Given the description of an element on the screen output the (x, y) to click on. 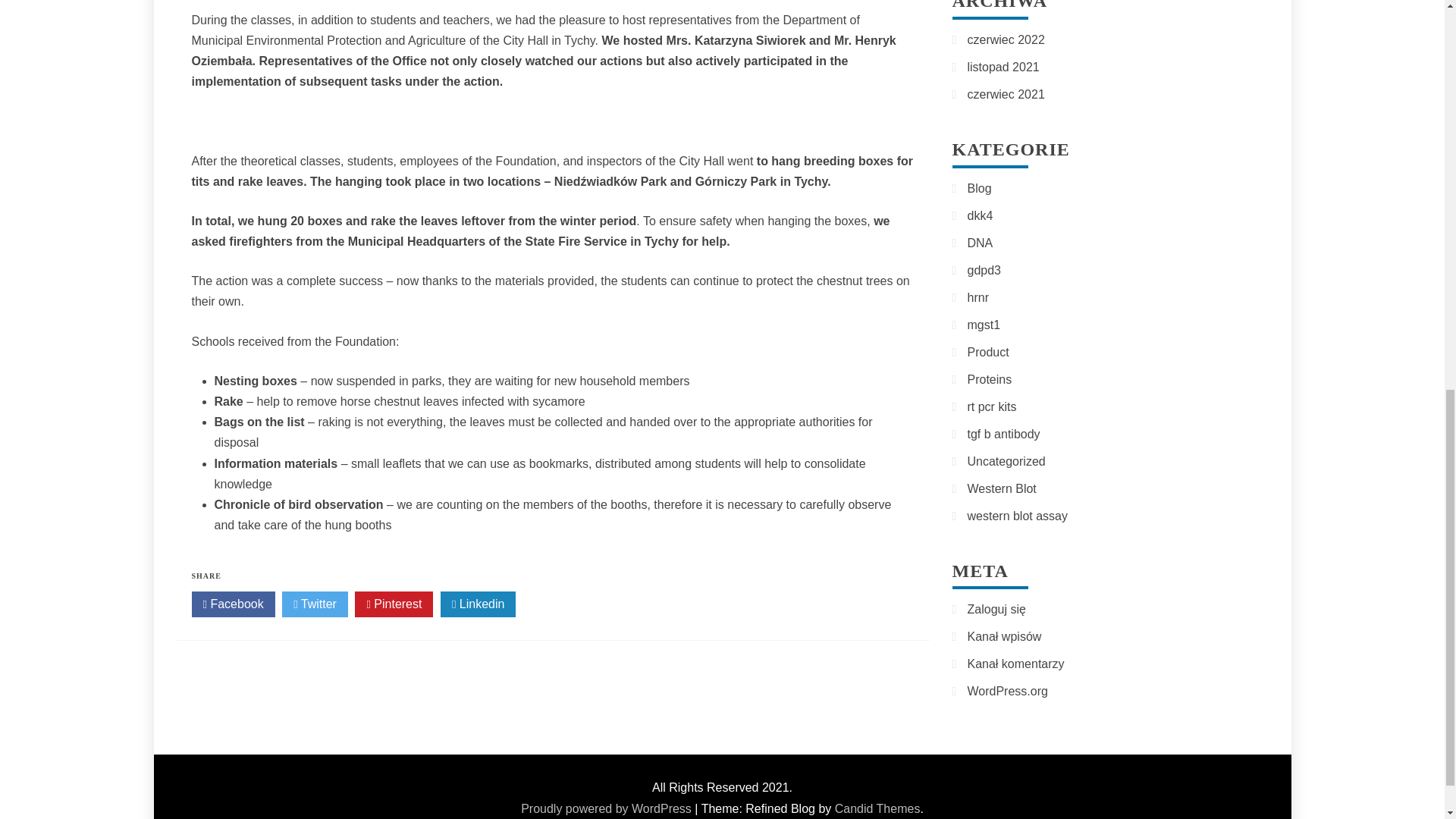
Western Blot (1002, 488)
Blog (979, 187)
czerwiec 2021 (1006, 93)
Proteins (989, 379)
Linkedin (478, 604)
mgst1 (984, 324)
Pinterest (393, 604)
tgf b antibody (1004, 433)
rt pcr kits (992, 406)
dkk4 (980, 215)
western blot assay (1018, 515)
Facebook (232, 604)
Uncategorized (1006, 461)
hrnr (978, 297)
DNA (980, 242)
